Given the description of an element on the screen output the (x, y) to click on. 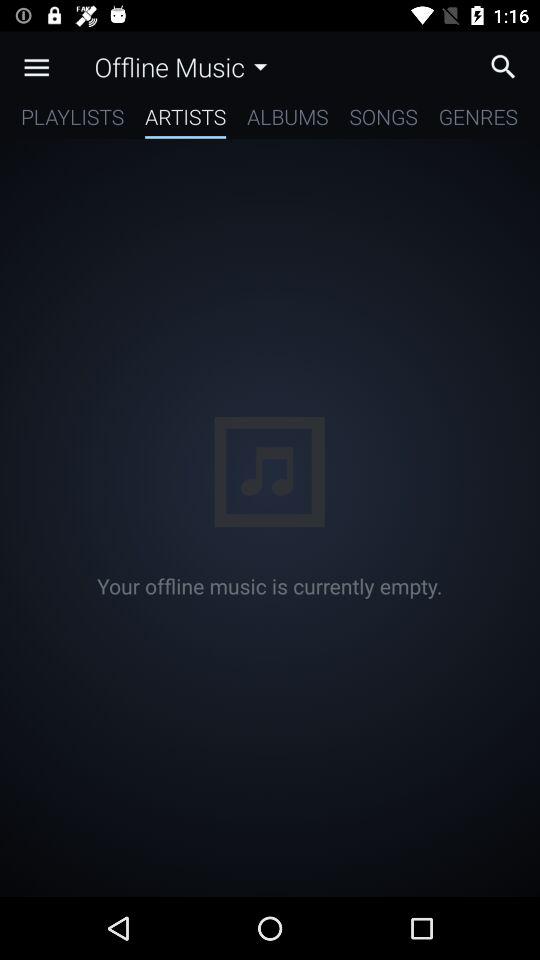
launch the playlists item (72, 120)
